Given the description of an element on the screen output the (x, y) to click on. 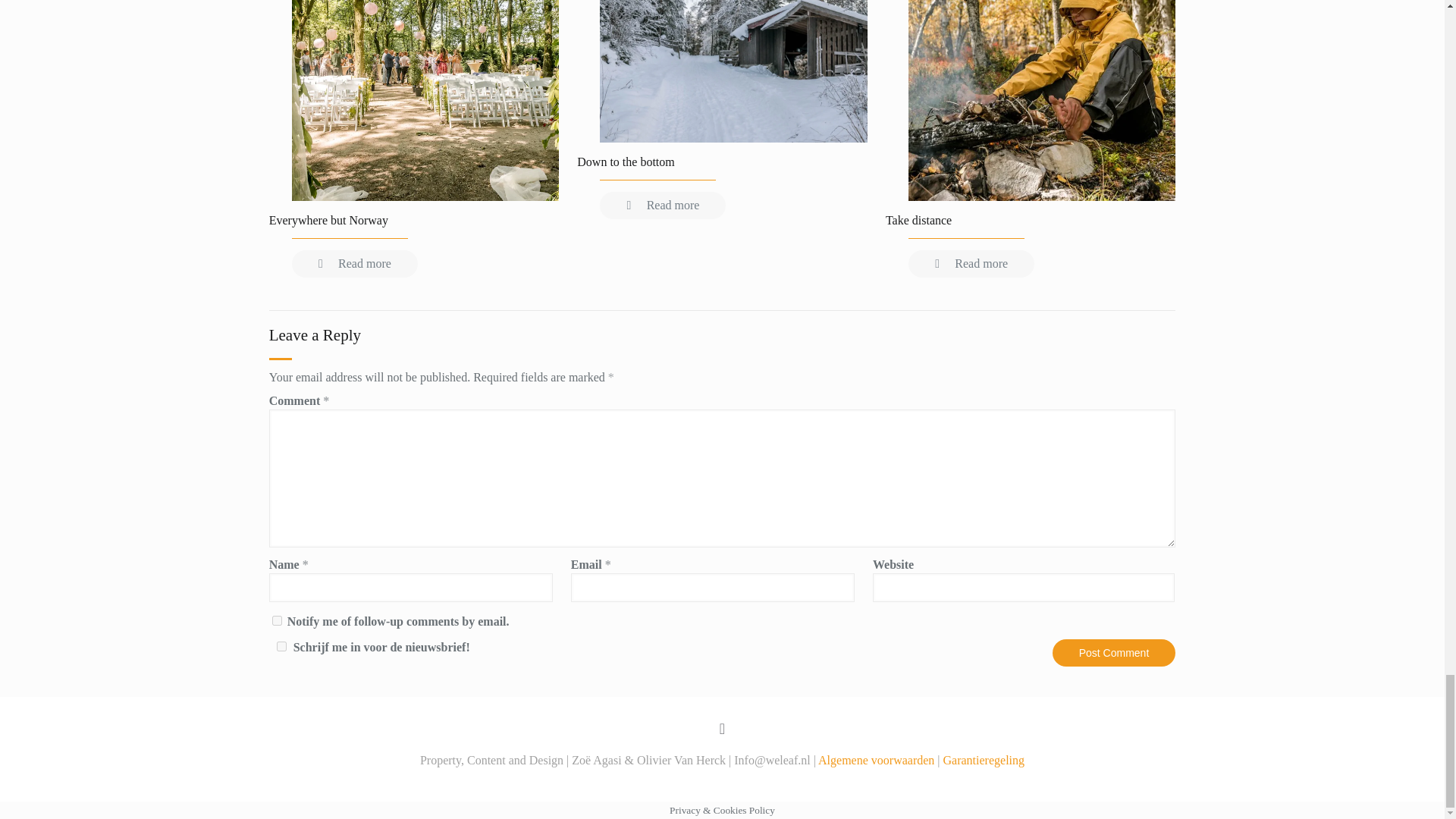
1 (281, 646)
subscribe (277, 620)
Facebook (702, 779)
Post Comment (1114, 652)
YouTube (722, 779)
